Given the description of an element on the screen output the (x, y) to click on. 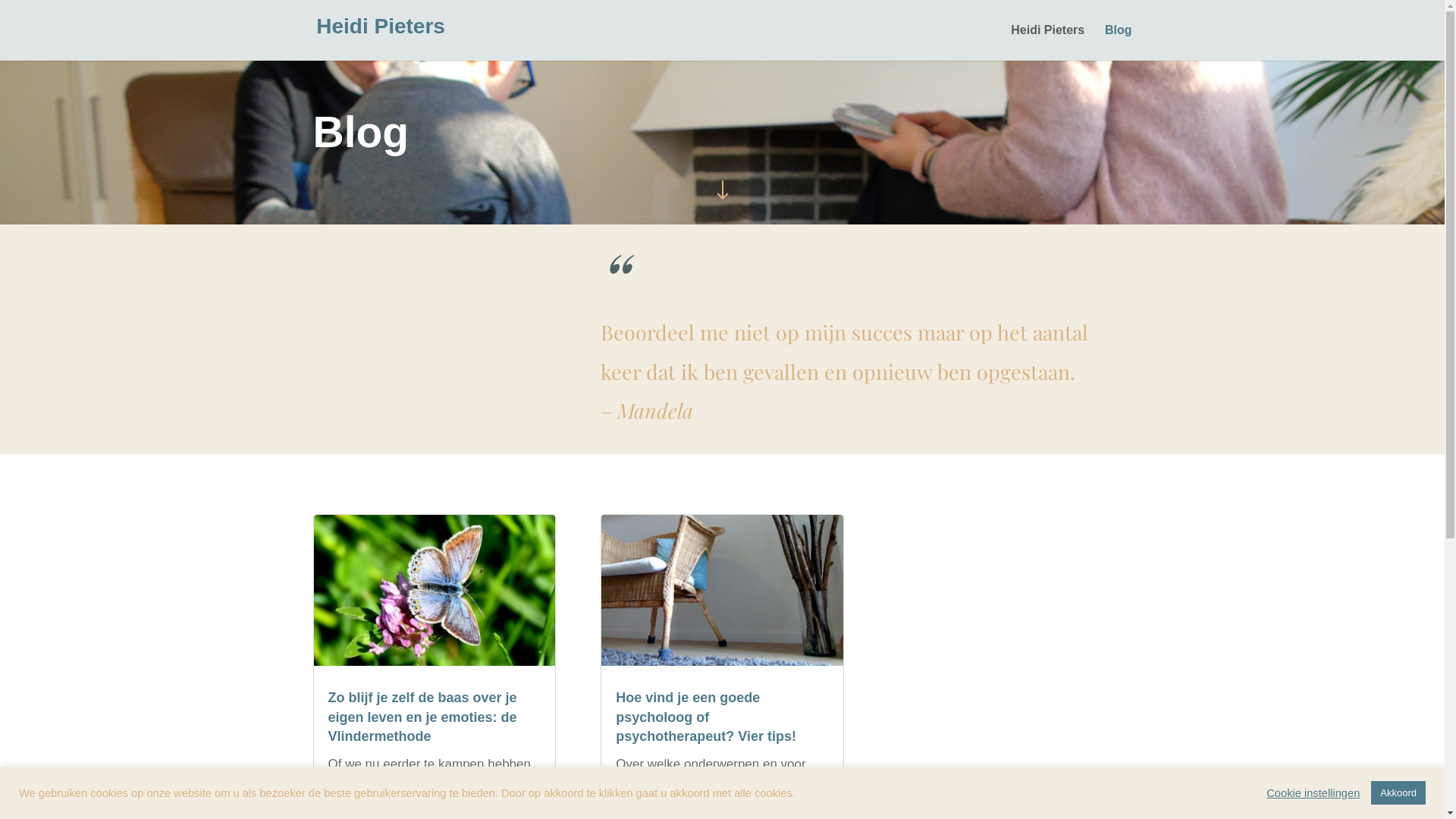
Heidi Pieters Element type: text (380, 28)
Heidi Pieters Element type: text (1047, 42)
Blog Element type: text (1118, 42)
" Element type: text (721, 193)
Cookie instellingen Element type: text (1312, 792)
Akkoord Element type: text (1398, 792)
